Given the description of an element on the screen output the (x, y) to click on. 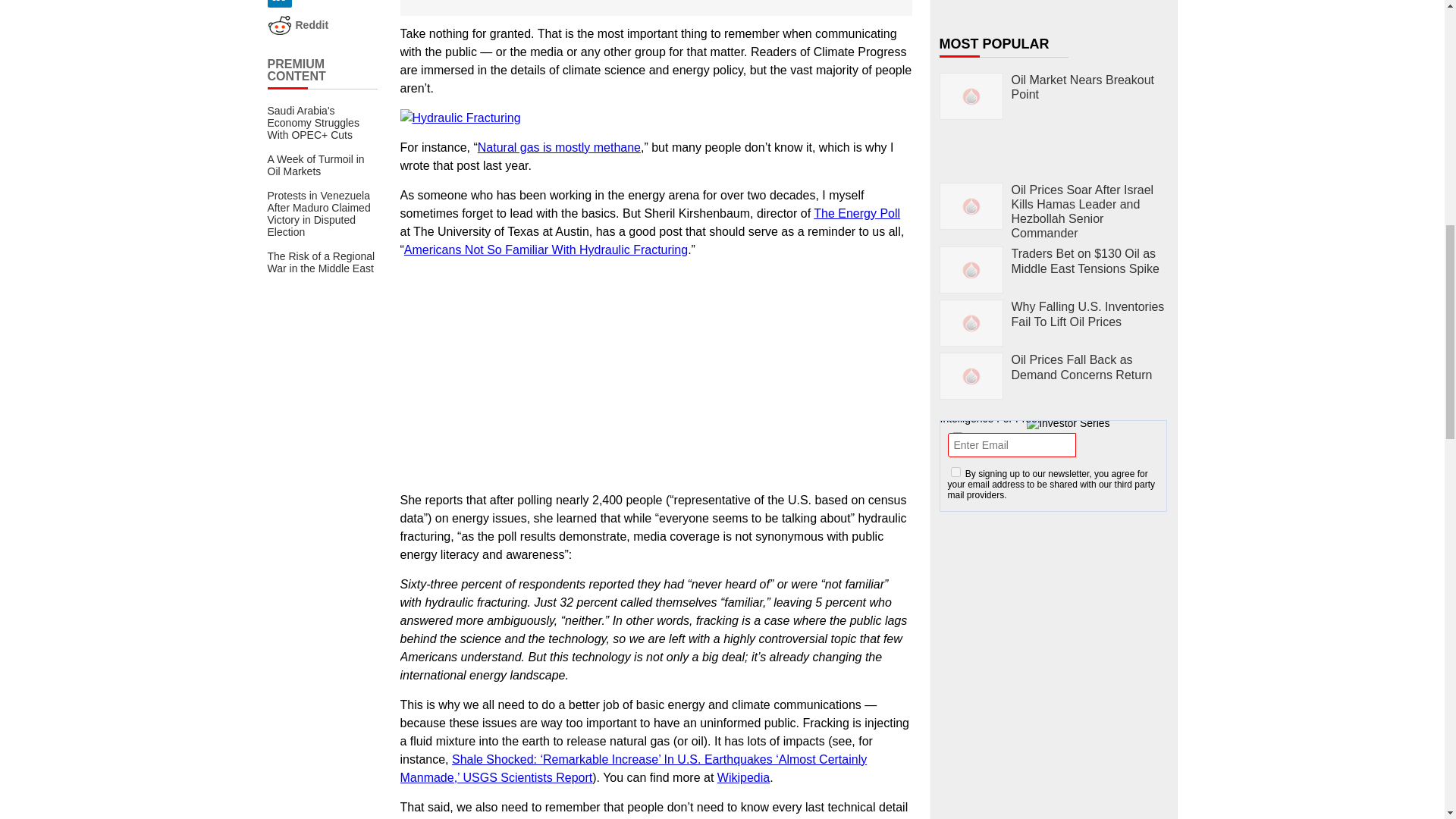
Hydraulic Fracturing (460, 117)
1 (955, 471)
